Given the description of an element on the screen output the (x, y) to click on. 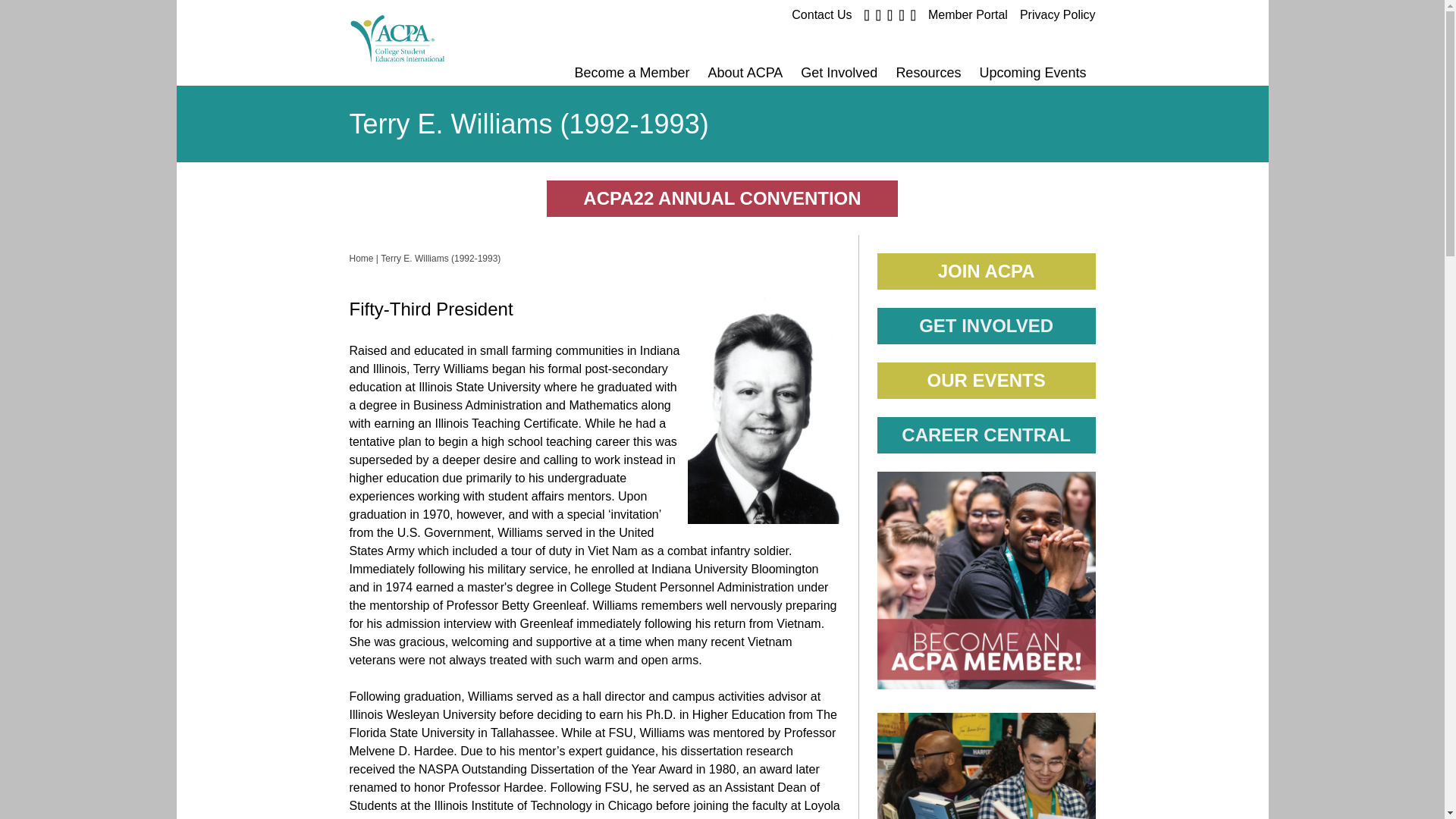
Get Involved (838, 72)
Home (444, 42)
Contact Us (821, 14)
Member Portal (967, 14)
Resources (927, 72)
About ACPA (745, 72)
Become a Member (632, 72)
Privacy Policy (1058, 14)
